Given the description of an element on the screen output the (x, y) to click on. 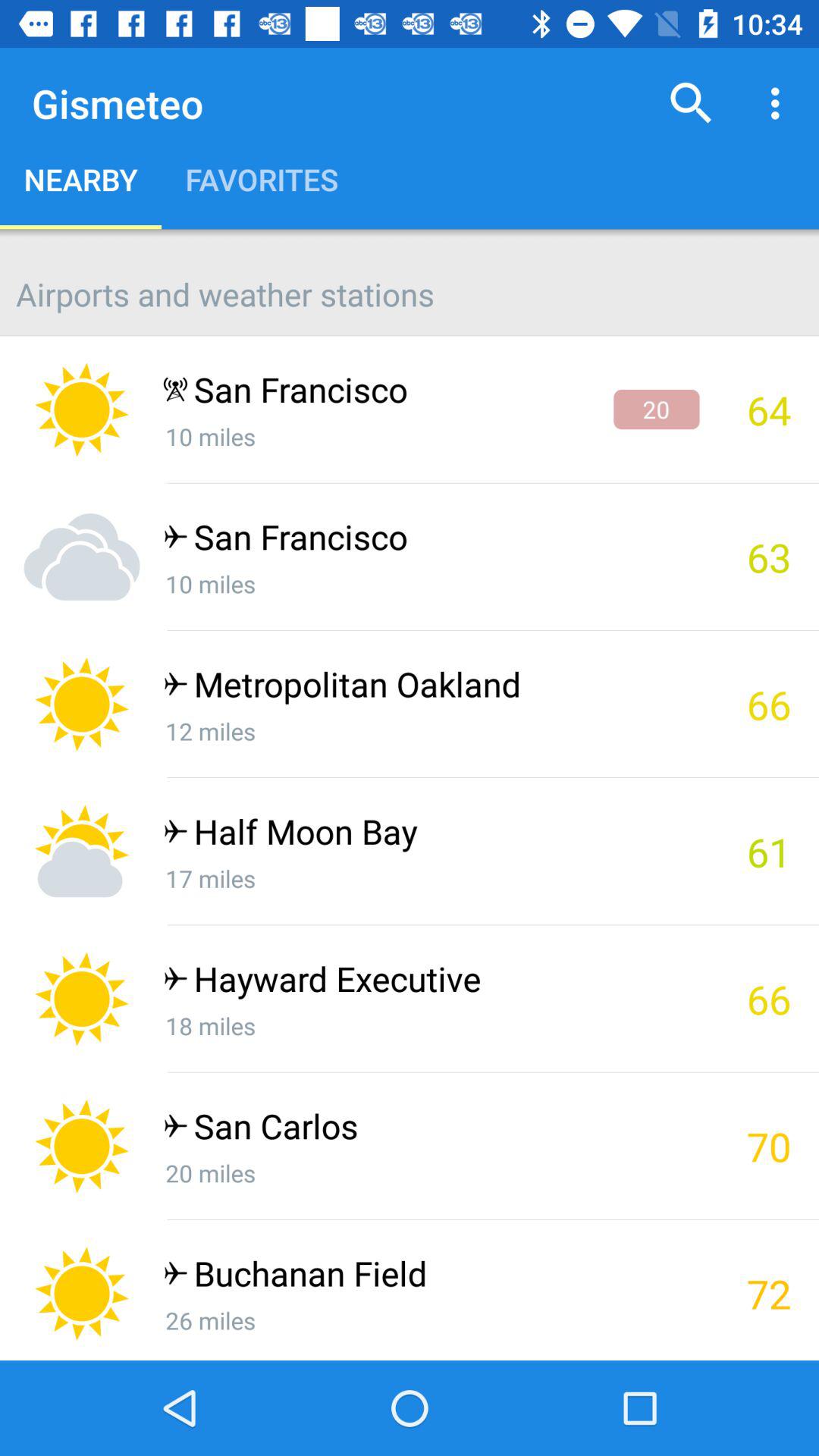
tap the hayward executive item (431, 982)
